Given the description of an element on the screen output the (x, y) to click on. 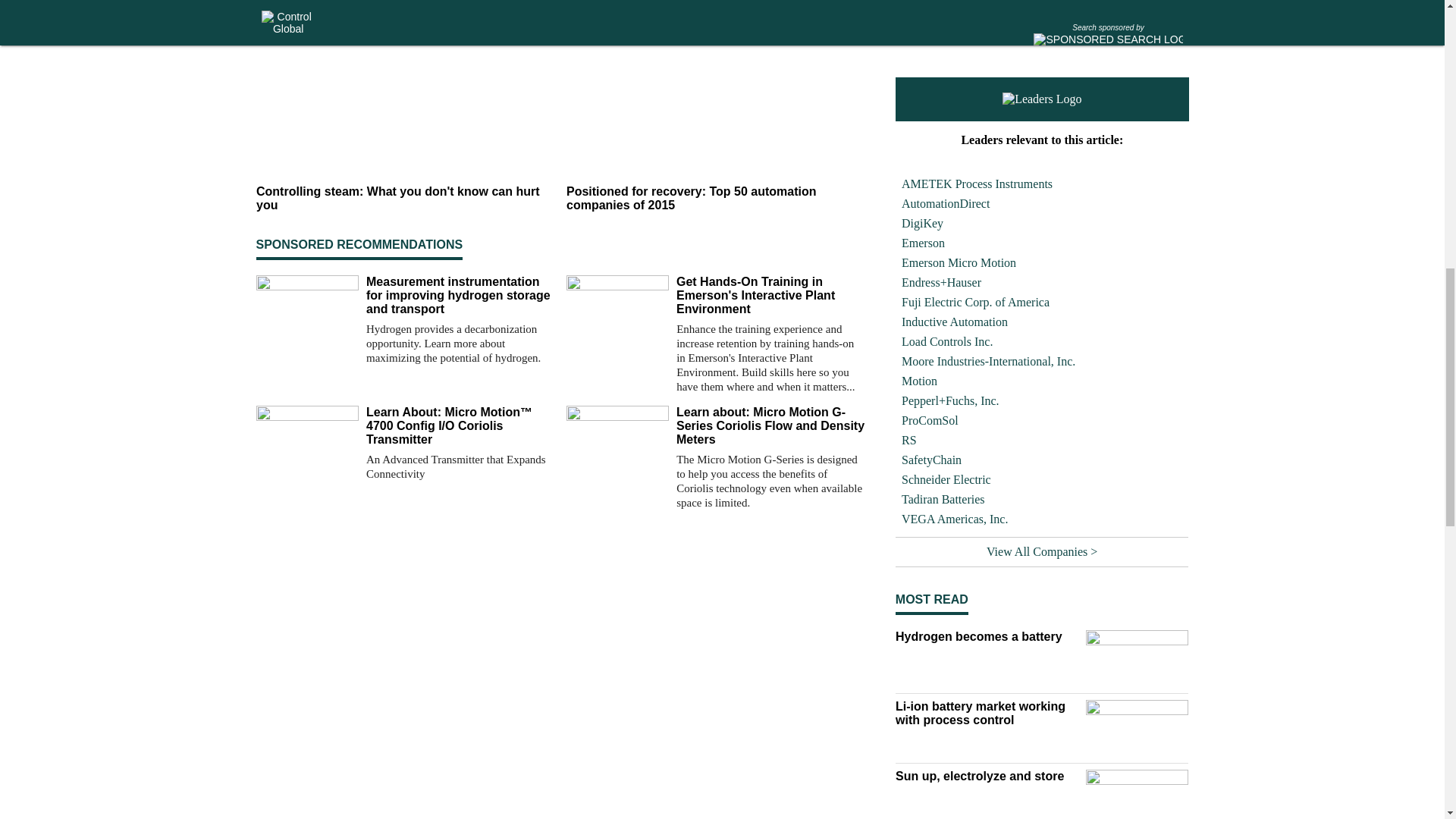
Emerson Micro Motion (1042, 262)
AMETEK Process Instruments (1042, 184)
Controlling steam: What you don't know can hurt you (405, 198)
Positioned for recovery: Top 50 automation companies of 2015 (715, 198)
Wedge flowmeter 'seals' the deal (986, 27)
Flow (986, 7)
Emerson (1042, 243)
AutomationDirect (1042, 203)
DigiKey (1042, 223)
